Given the description of an element on the screen output the (x, y) to click on. 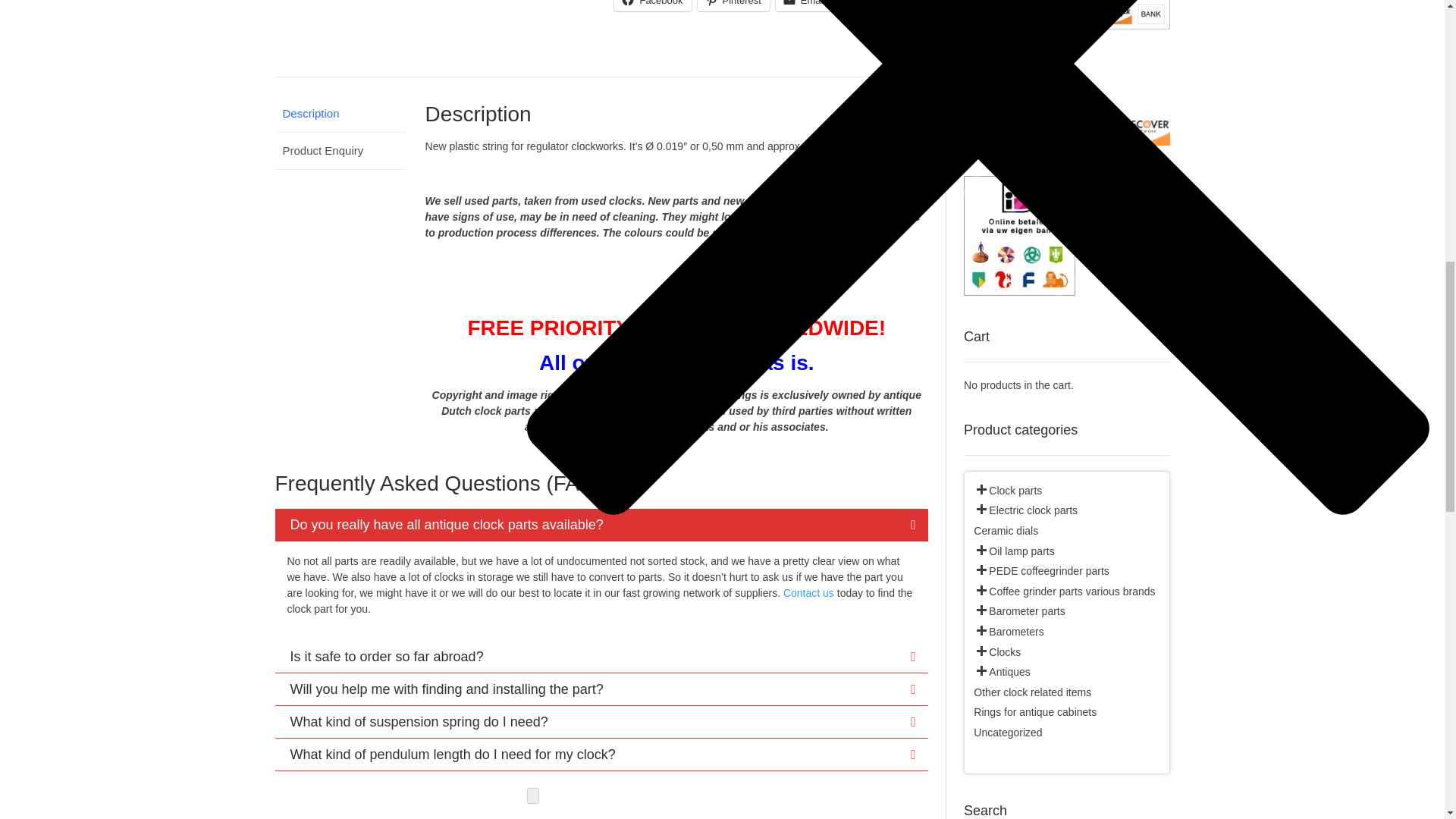
Twitter (870, 5)
Hoe PayPal Werkt (1066, 39)
Click to share on Pinterest (733, 5)
Product Enquiry (339, 150)
Click to share on Twitter (870, 5)
Contact us (808, 592)
Pinterest (733, 5)
Description (339, 113)
Click to share on Facebook (652, 5)
Click to email a link to a friend (805, 5)
Email (805, 5)
Facebook (652, 5)
